Given the description of an element on the screen output the (x, y) to click on. 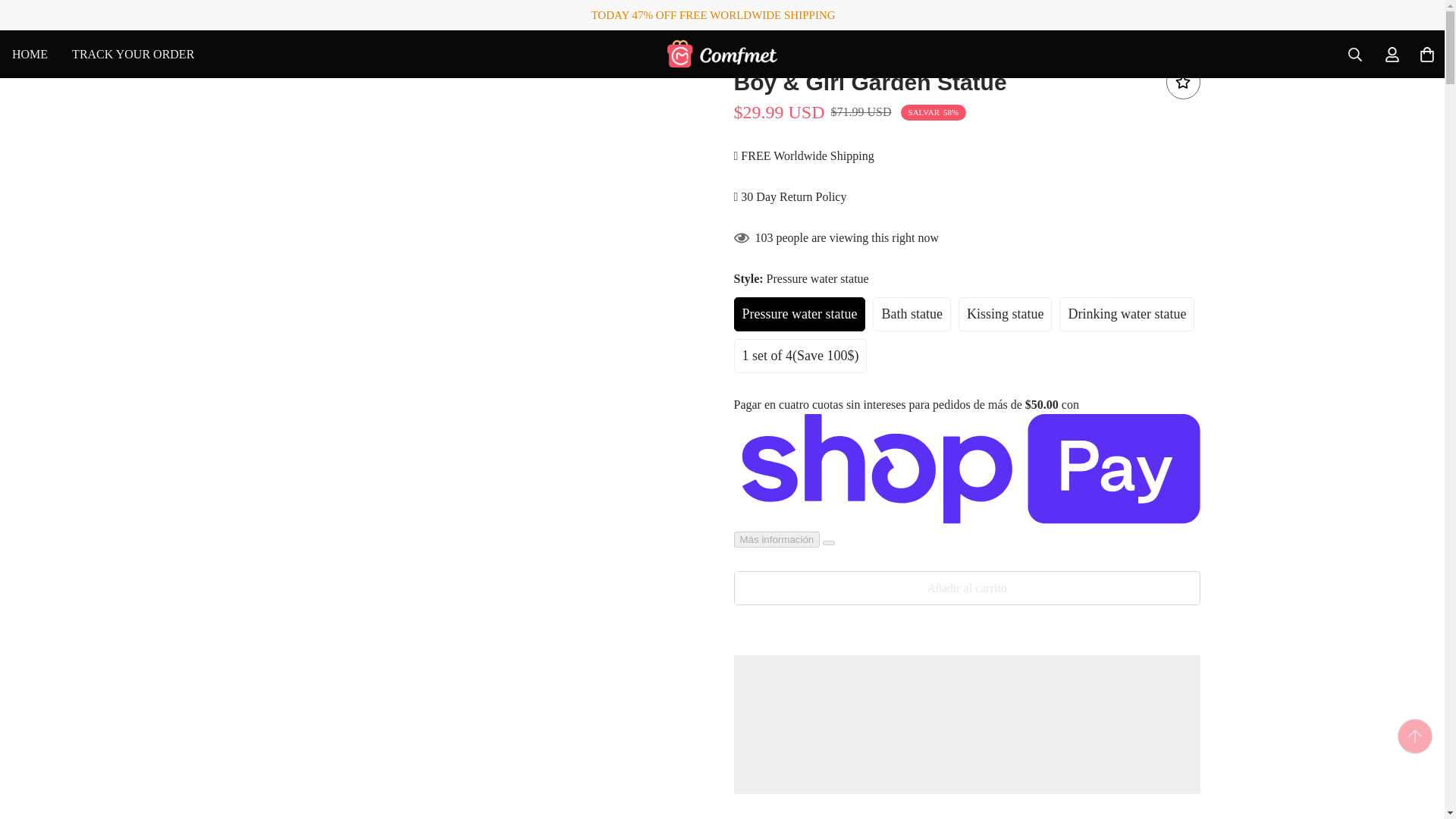
COMFMET (721, 53)
TRACK YOUR ORDER (132, 53)
Pressure water statue (301, 53)
Kissing statue (103, 53)
